Given the description of an element on the screen output the (x, y) to click on. 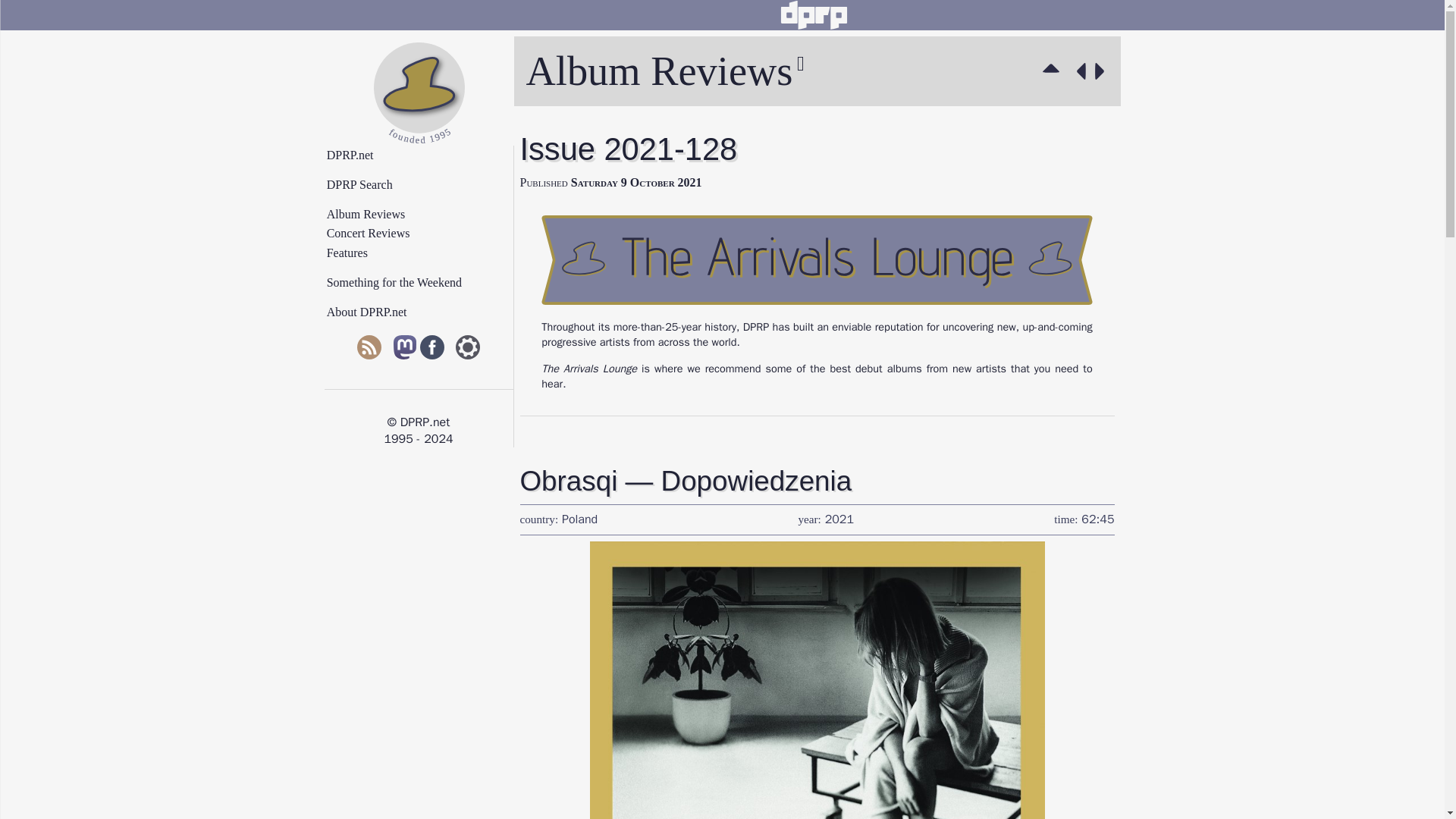
Concert Reviews (424, 234)
Album Reviews (424, 214)
Issue 2021-127 (1077, 70)
DPRP on Mastodon (404, 348)
DPRP.net RSS feed (368, 348)
DPRP on Facebook (432, 348)
Features (424, 252)
DPRP.net (424, 155)
Something for the Weekend (424, 283)
settings (467, 348)
About DPRP.net (424, 312)
Album Reviews (1053, 70)
Issue 2021-129 (1102, 70)
DPRP Search (424, 184)
